Given the description of an element on the screen output the (x, y) to click on. 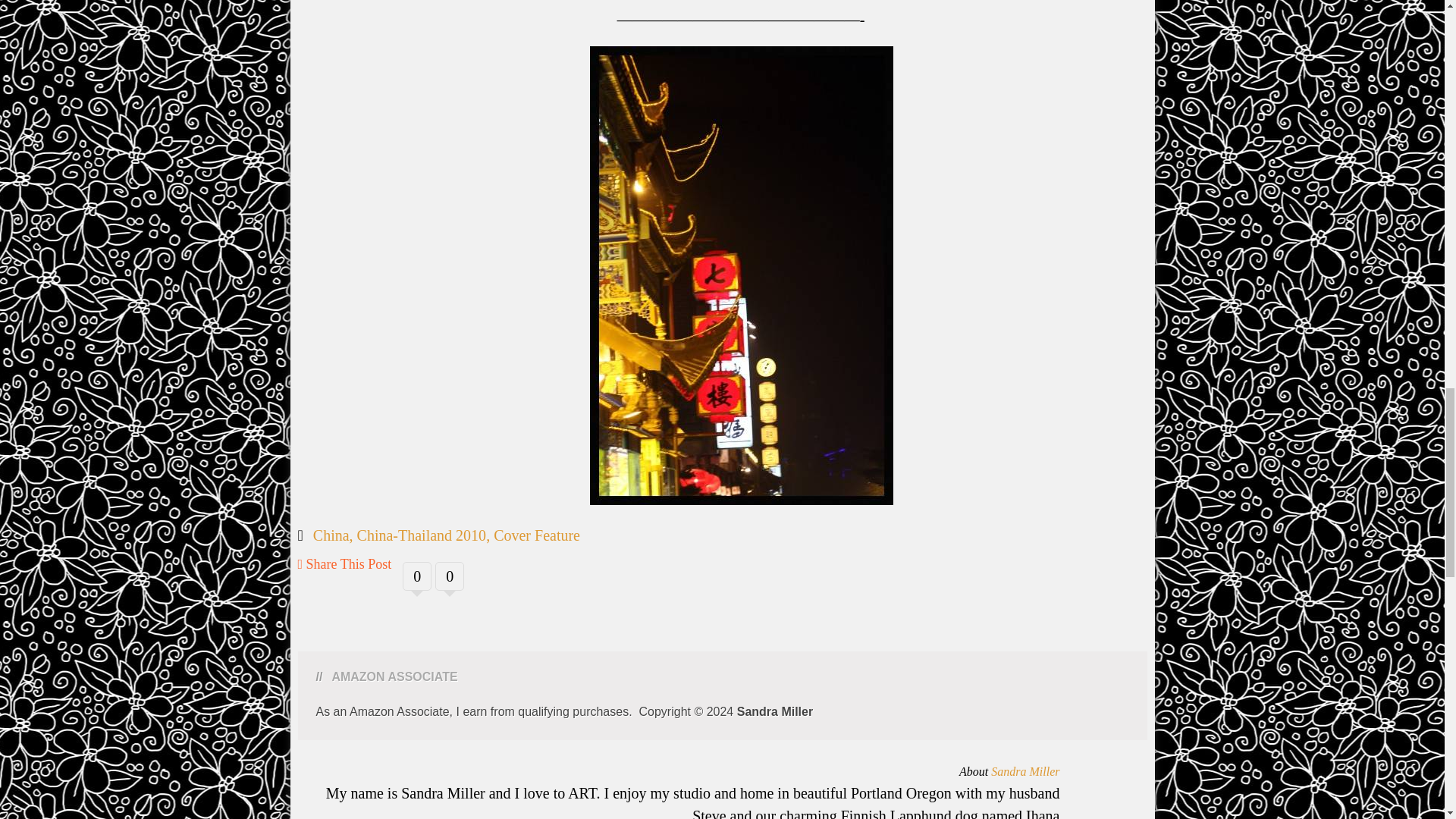
Sandra Miller (1025, 771)
Cover Feature (536, 535)
China-Thailand 2010 (421, 535)
China (331, 535)
